Given the description of an element on the screen output the (x, y) to click on. 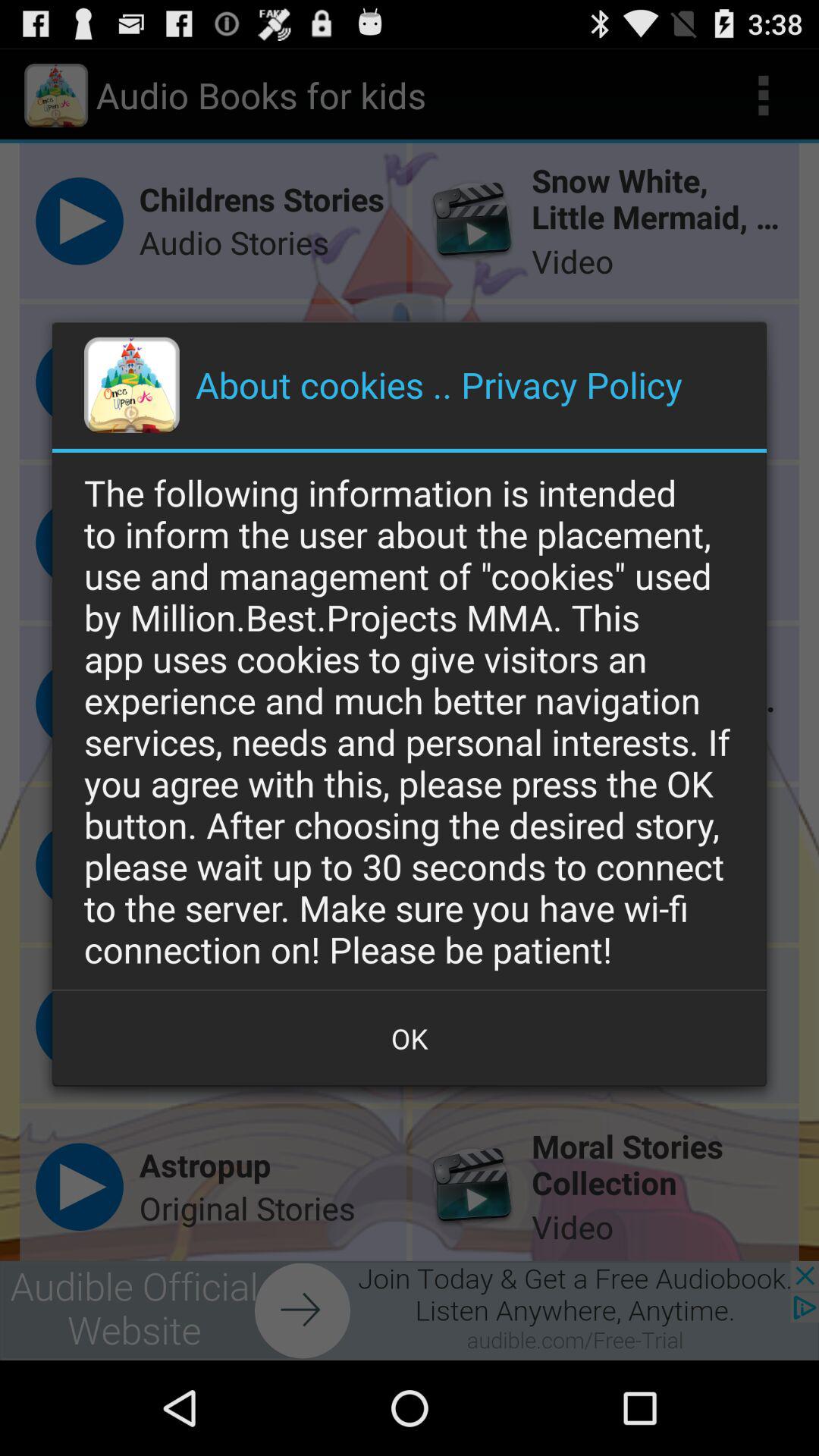
jump until the following information icon (409, 720)
